Given the description of an element on the screen output the (x, y) to click on. 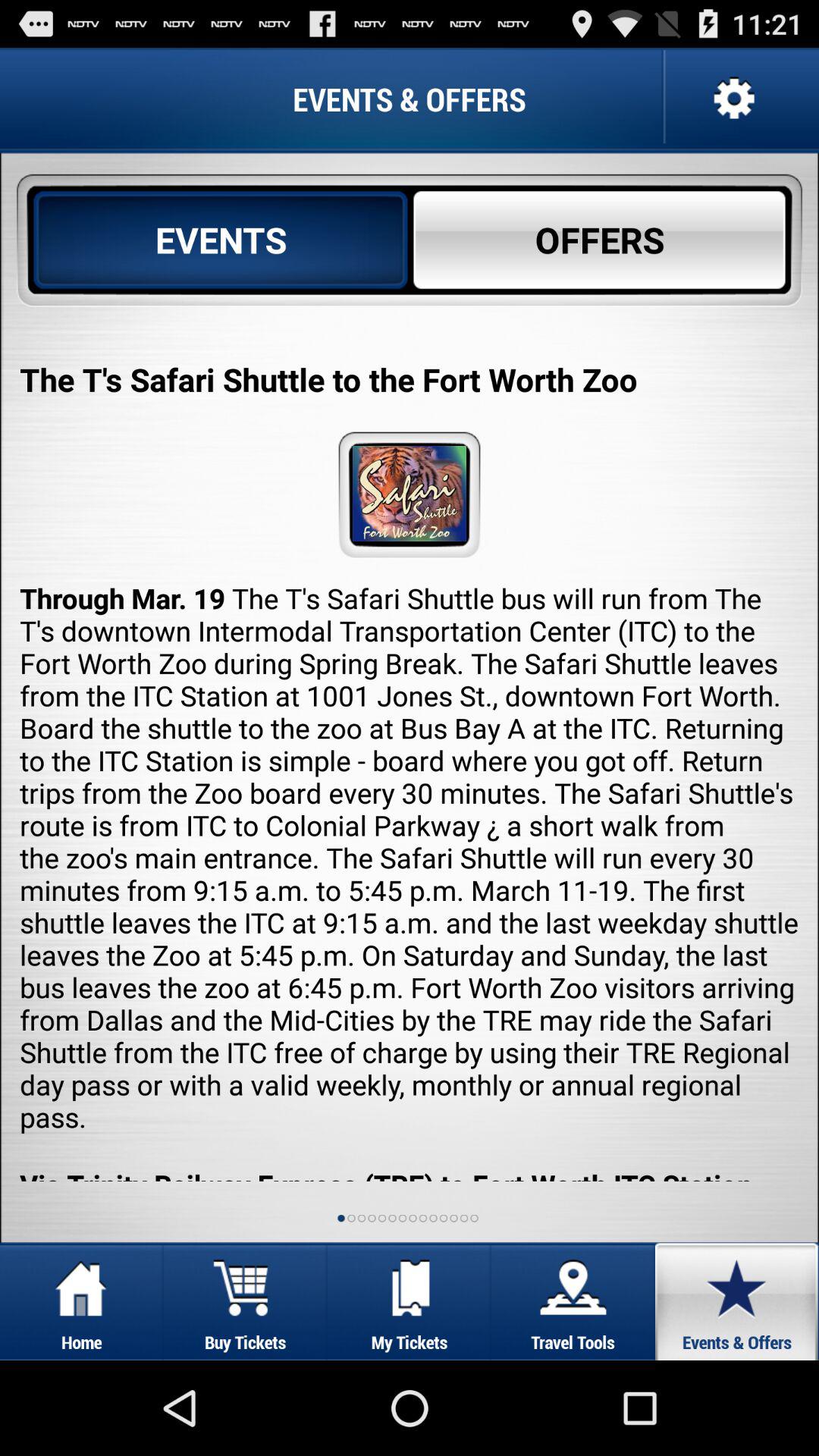
click on the button which is next right to the home button (245, 1300)
